Given the description of an element on the screen output the (x, y) to click on. 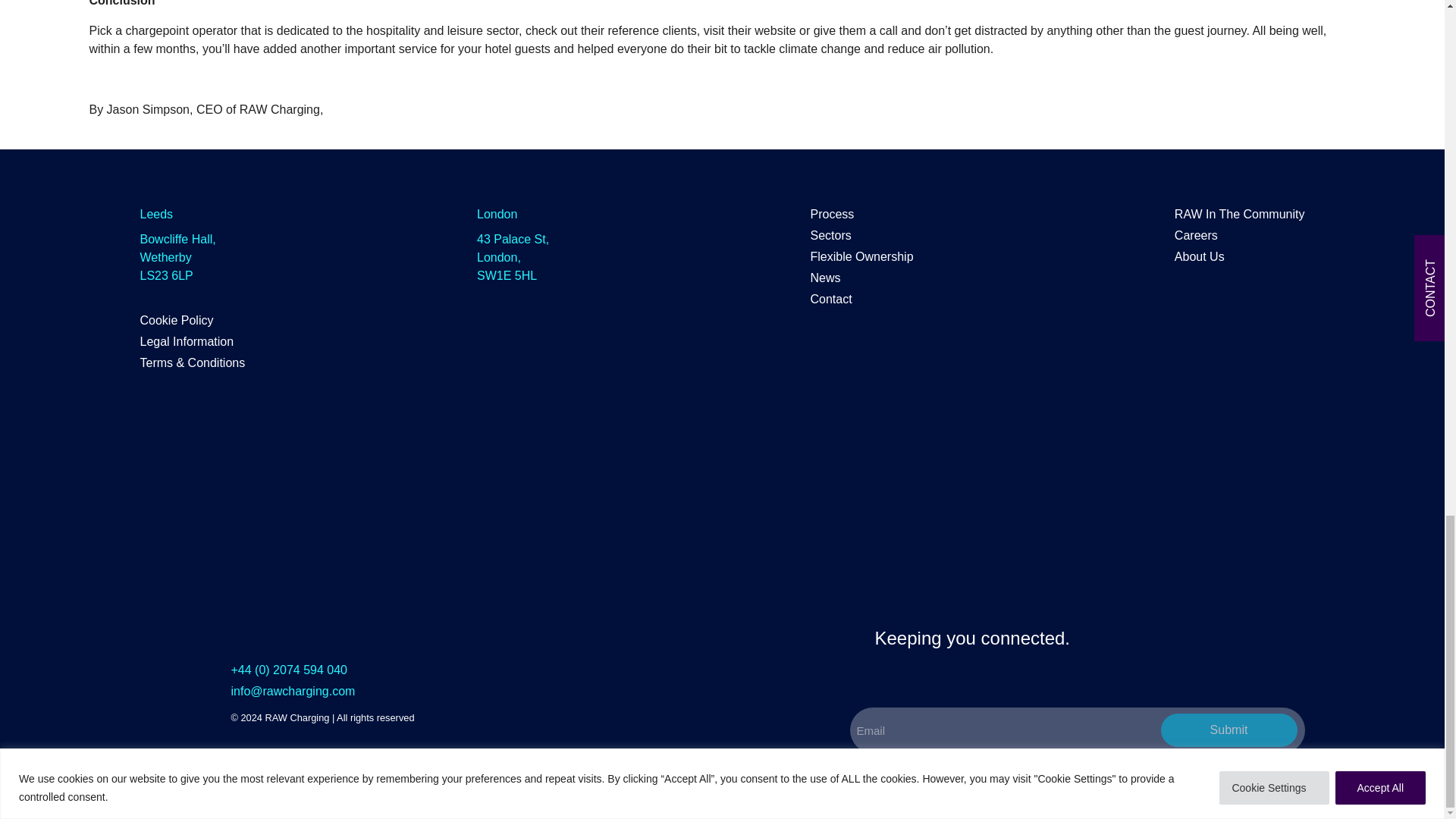
Submit (1228, 729)
